Given the description of an element on the screen output the (x, y) to click on. 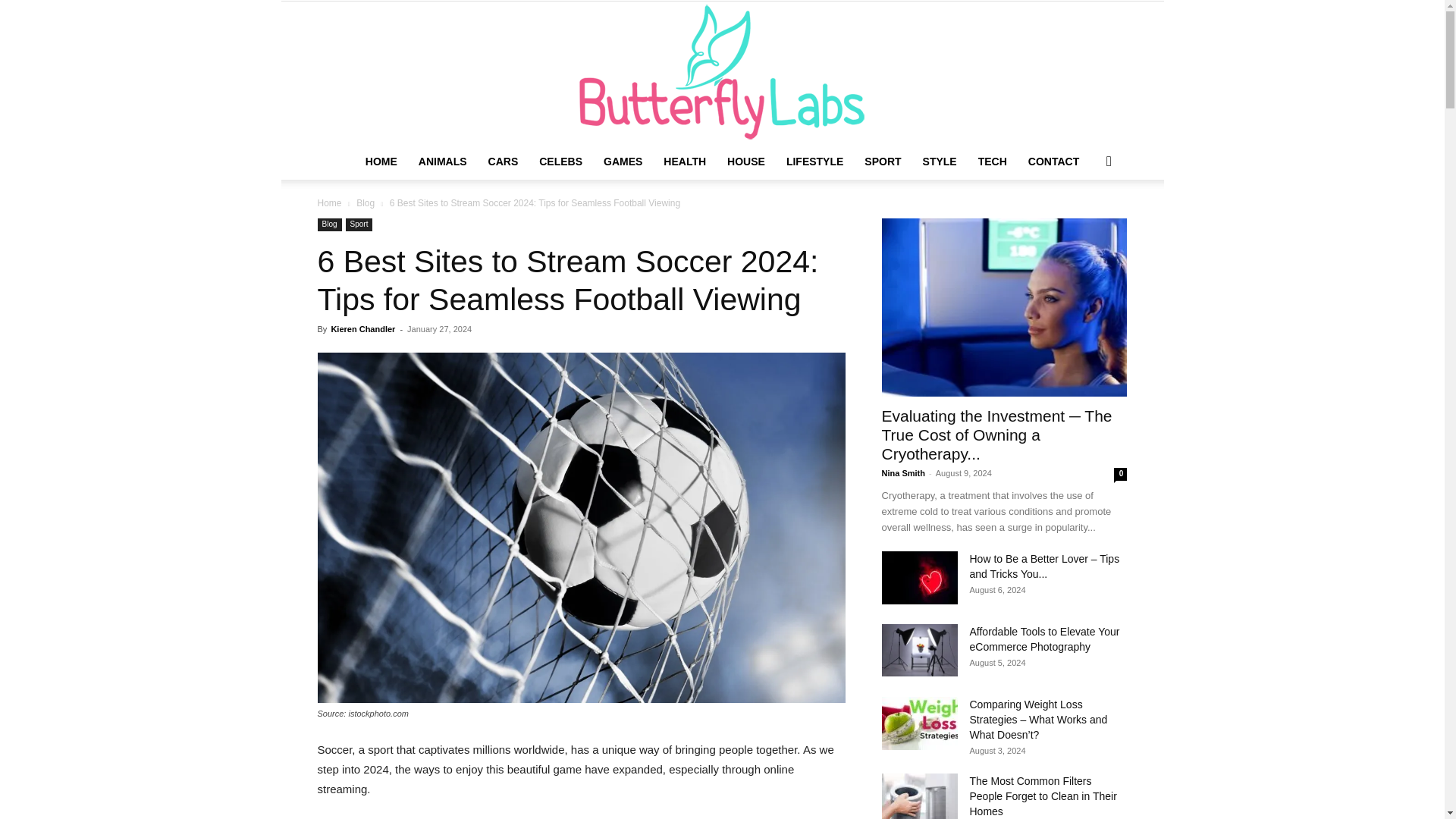
Blog (365, 203)
View all posts in Blog (365, 203)
Search (1085, 221)
GAMES (622, 161)
HEALTH (684, 161)
STYLE (940, 161)
CONTACT (1053, 161)
Home (328, 203)
Blog (328, 224)
